Given the description of an element on the screen output the (x, y) to click on. 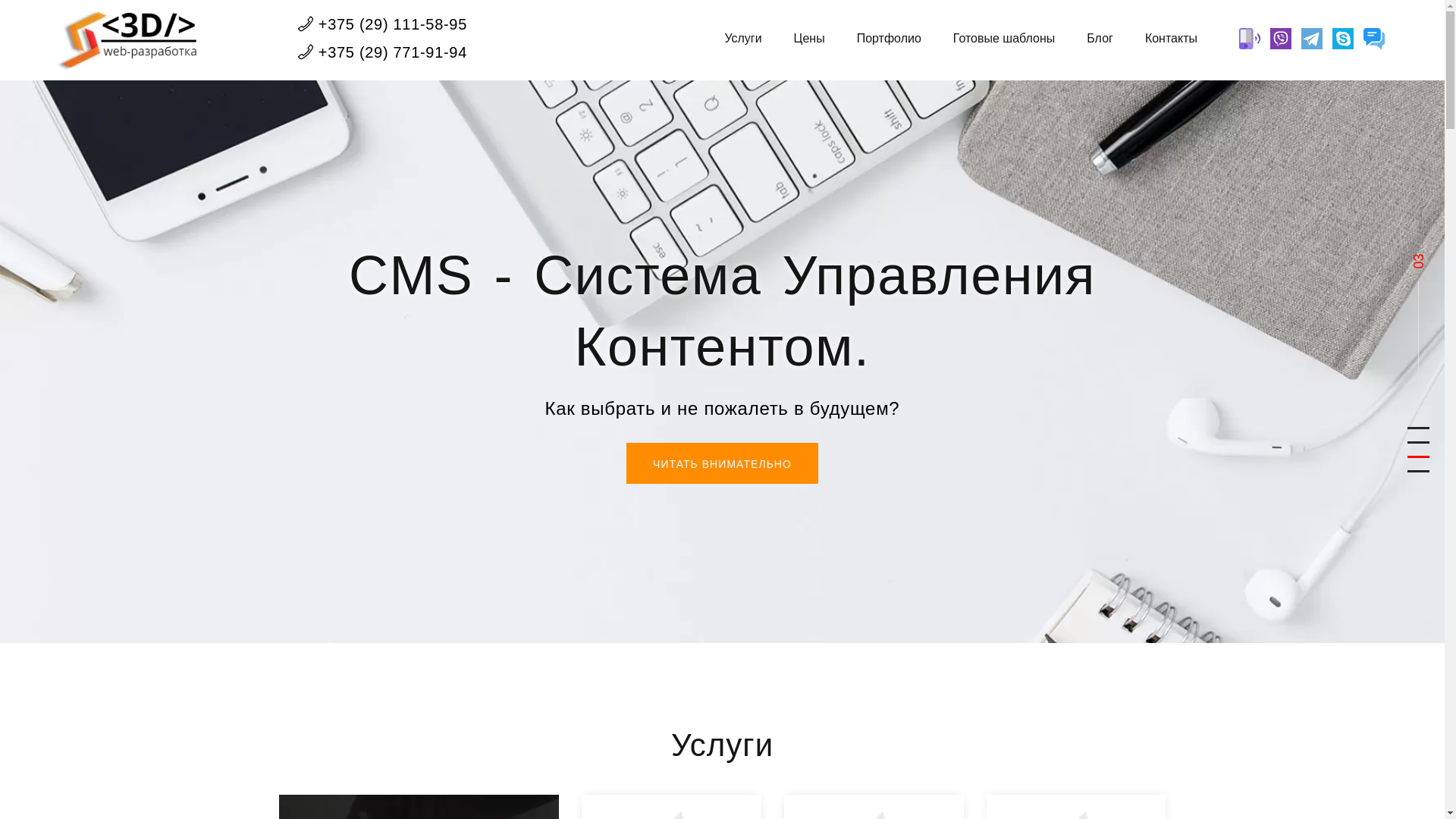
+375 (29) 111-58-95 Element type: text (382, 23)
+375 (29) 771-91-94 Element type: text (382, 51)
